Given the description of an element on the screen output the (x, y) to click on. 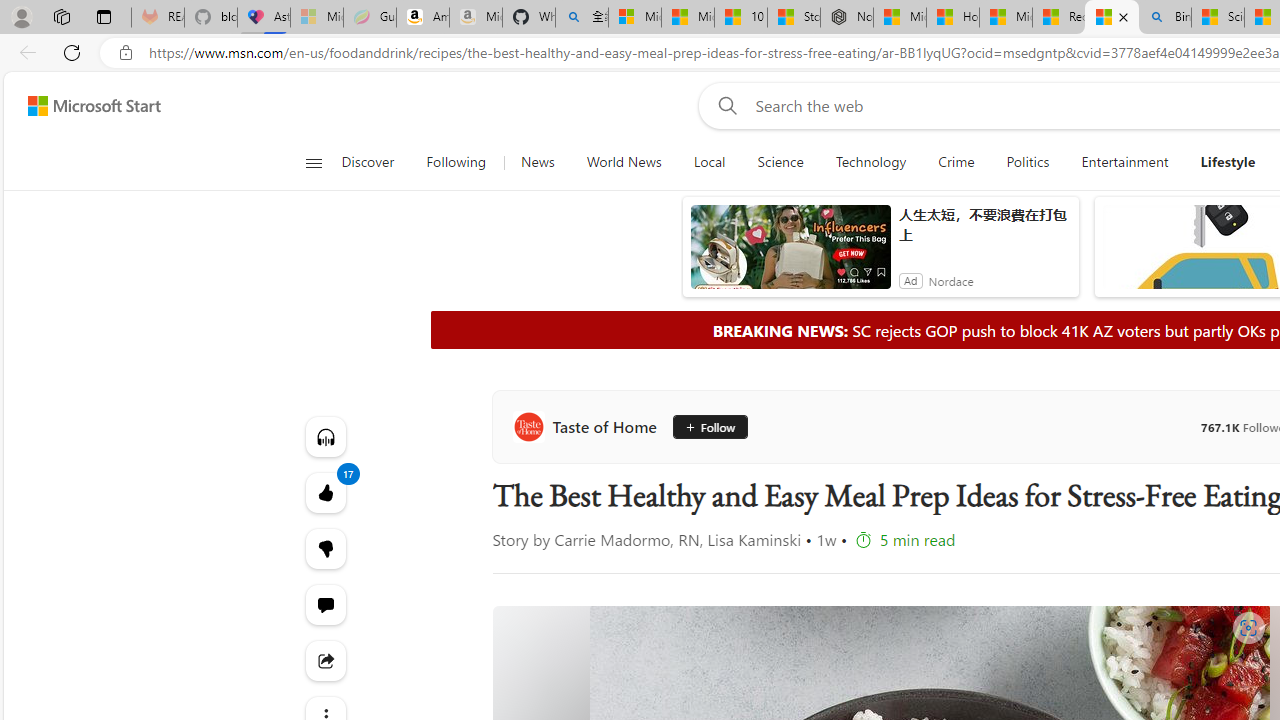
Nordace - Nordace Siena Is Not An Ordinary Backpack (846, 17)
Bing (1165, 17)
17 (324, 548)
Science (780, 162)
Web search (724, 105)
How I Got Rid of Microsoft Edge's Unnecessary Features (952, 17)
Technology (870, 162)
17 Like (324, 492)
